Given the description of an element on the screen output the (x, y) to click on. 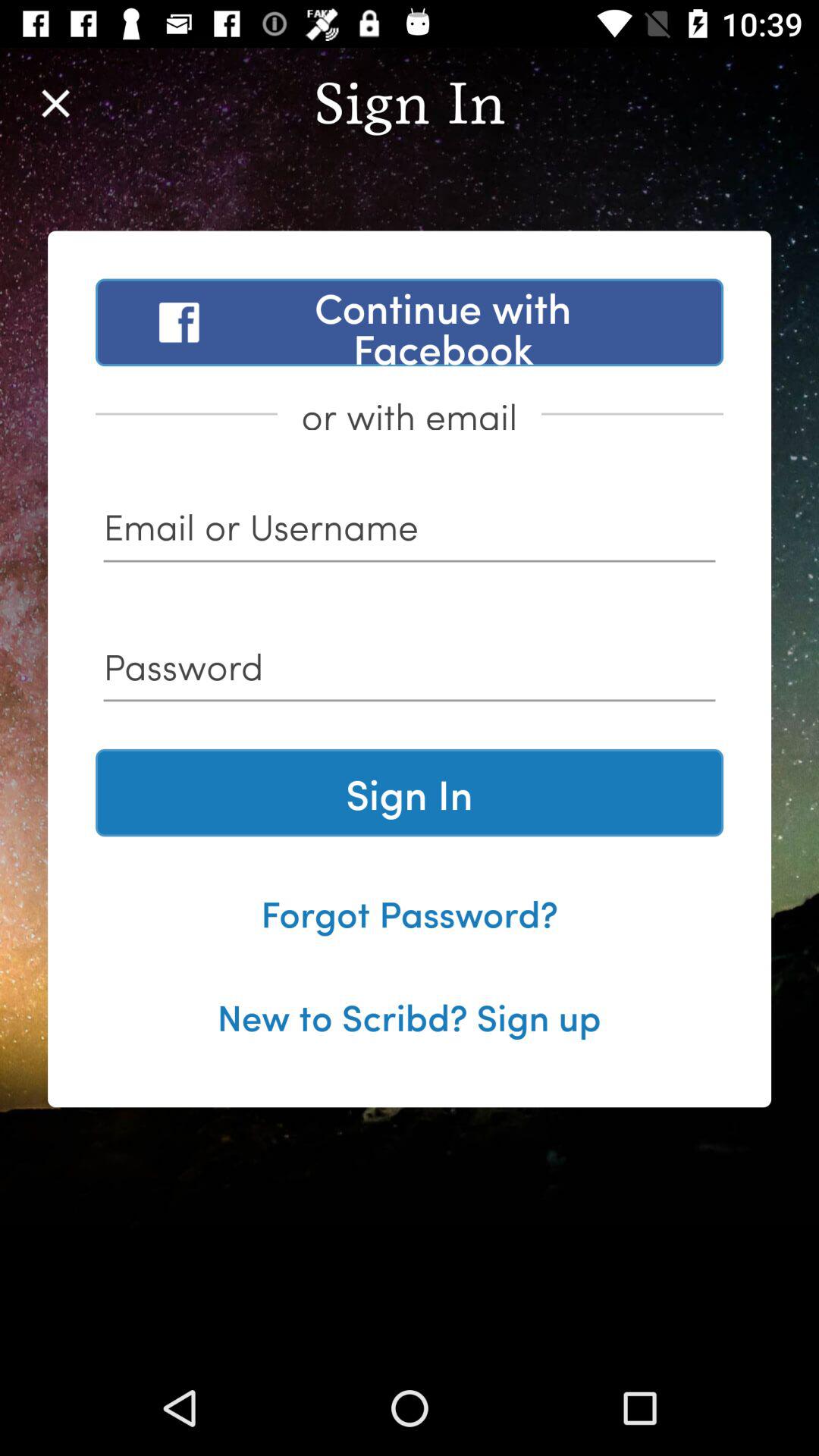
click the forgot password? item (409, 912)
